Given the description of an element on the screen output the (x, y) to click on. 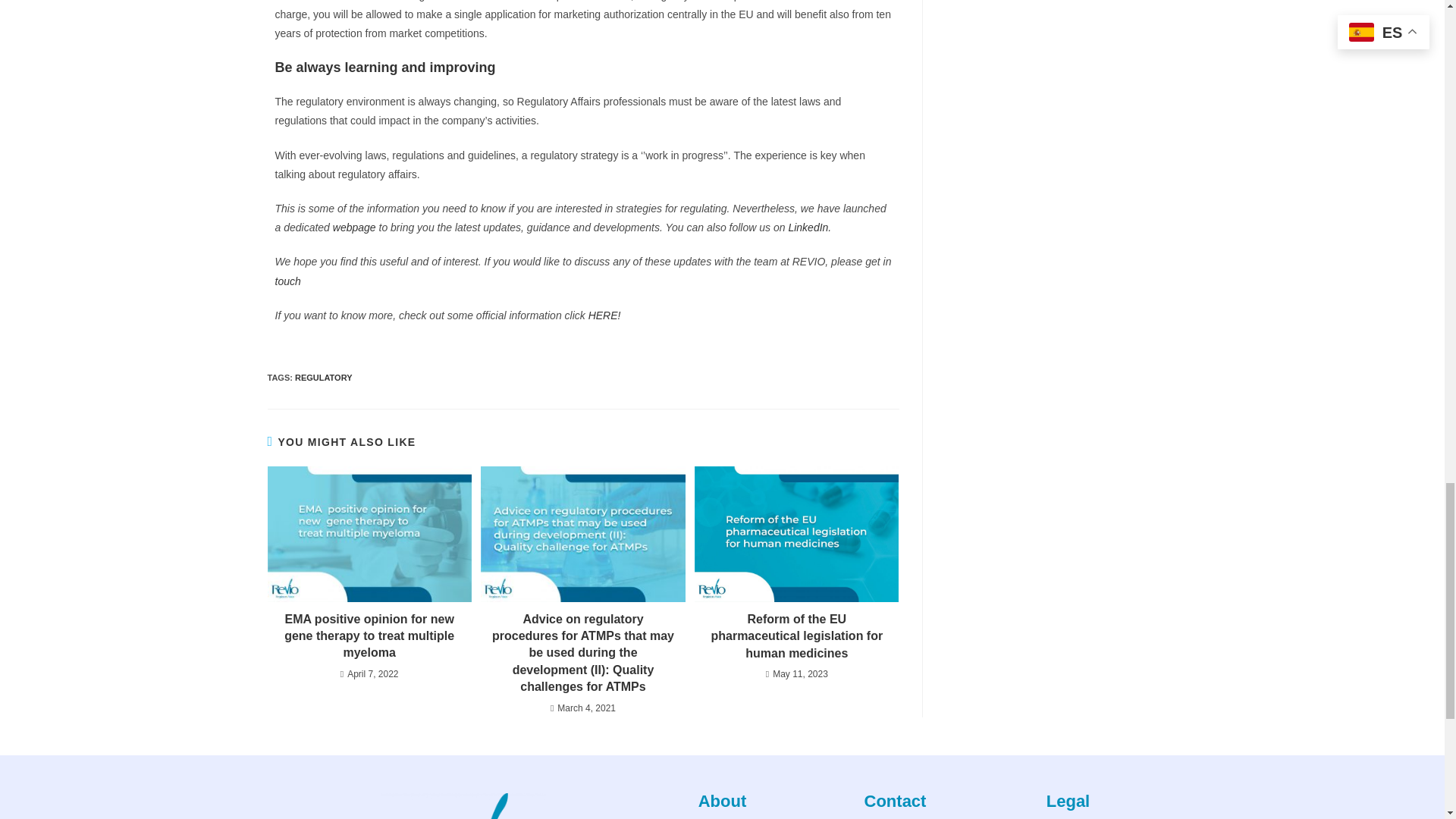
touch  (288, 281)
LinkedIn. (809, 227)
webpage (355, 227)
REGULATORY (323, 377)
HERE! (604, 315)
